Given the description of an element on the screen output the (x, y) to click on. 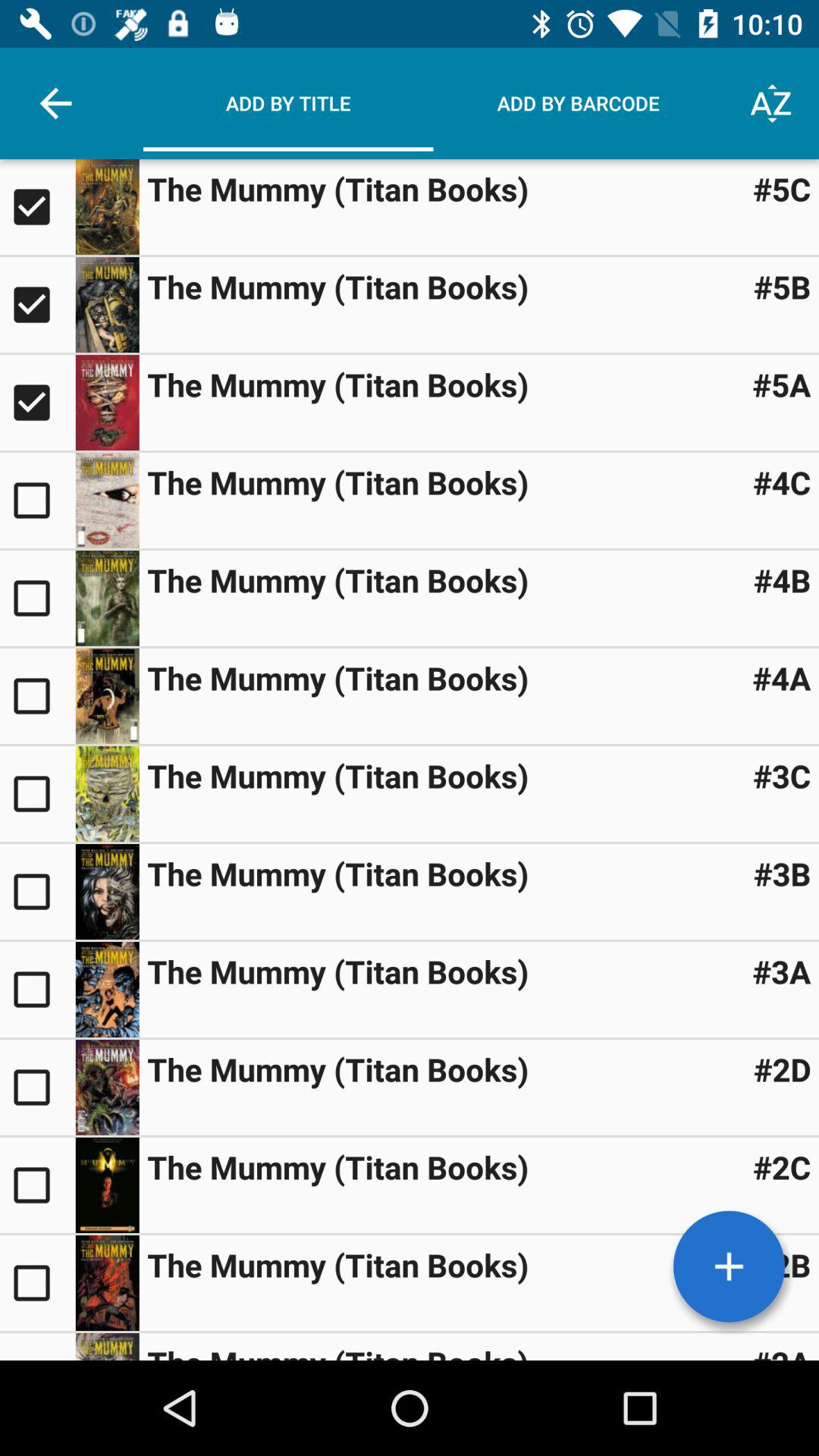
select the item next to the add by barcode (771, 103)
